Given the description of an element on the screen output the (x, y) to click on. 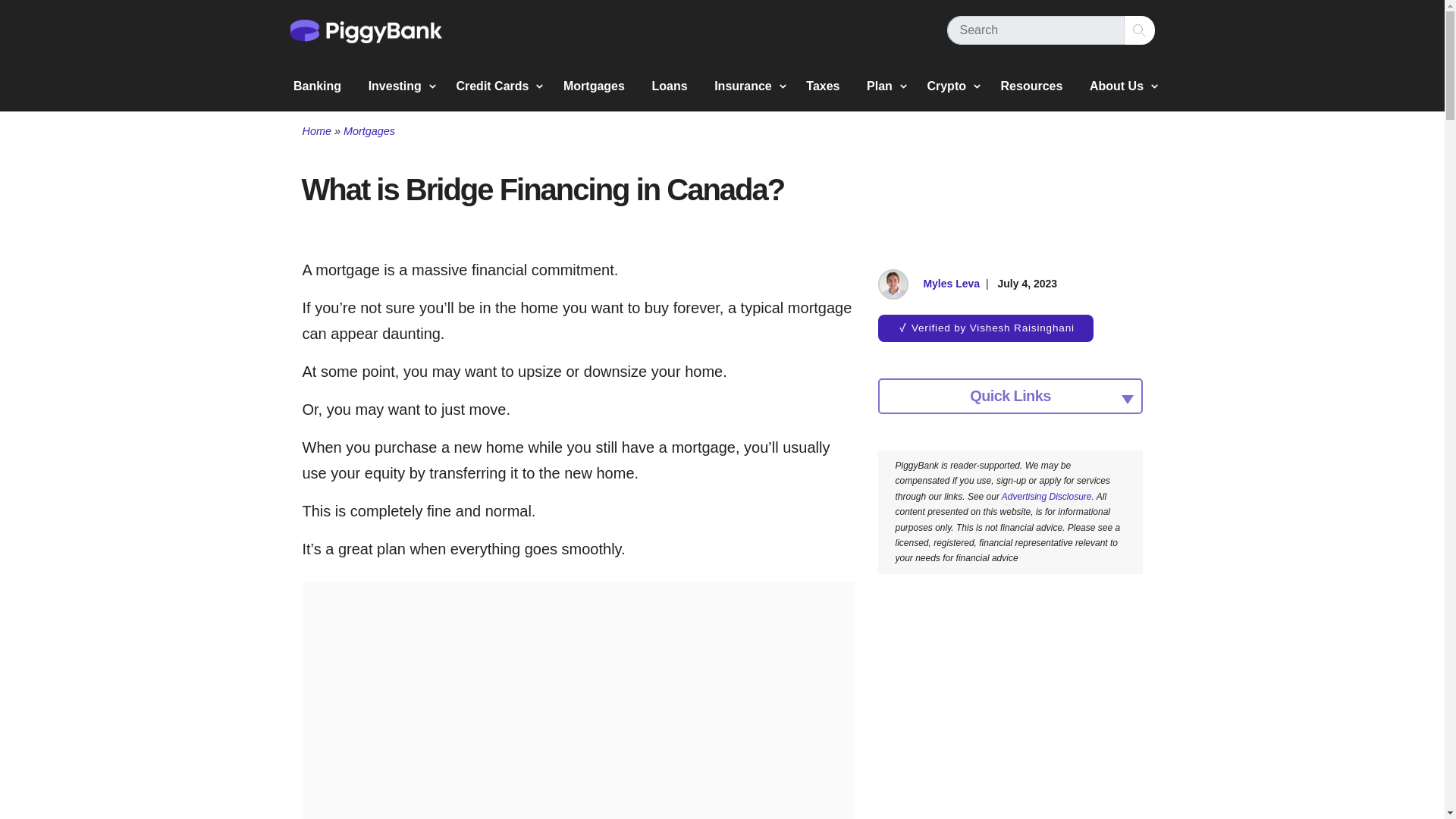
About Us (1119, 85)
Posts by Myles Leva (951, 283)
Resources (1031, 85)
Taxes (822, 85)
Insurance (746, 85)
Loans (668, 85)
Crypto (949, 85)
Investing (398, 85)
Mortgages (593, 85)
Home (315, 131)
Mortgages (368, 131)
Credit Cards (495, 85)
Plan (883, 85)
Banking (317, 85)
